Given the description of an element on the screen output the (x, y) to click on. 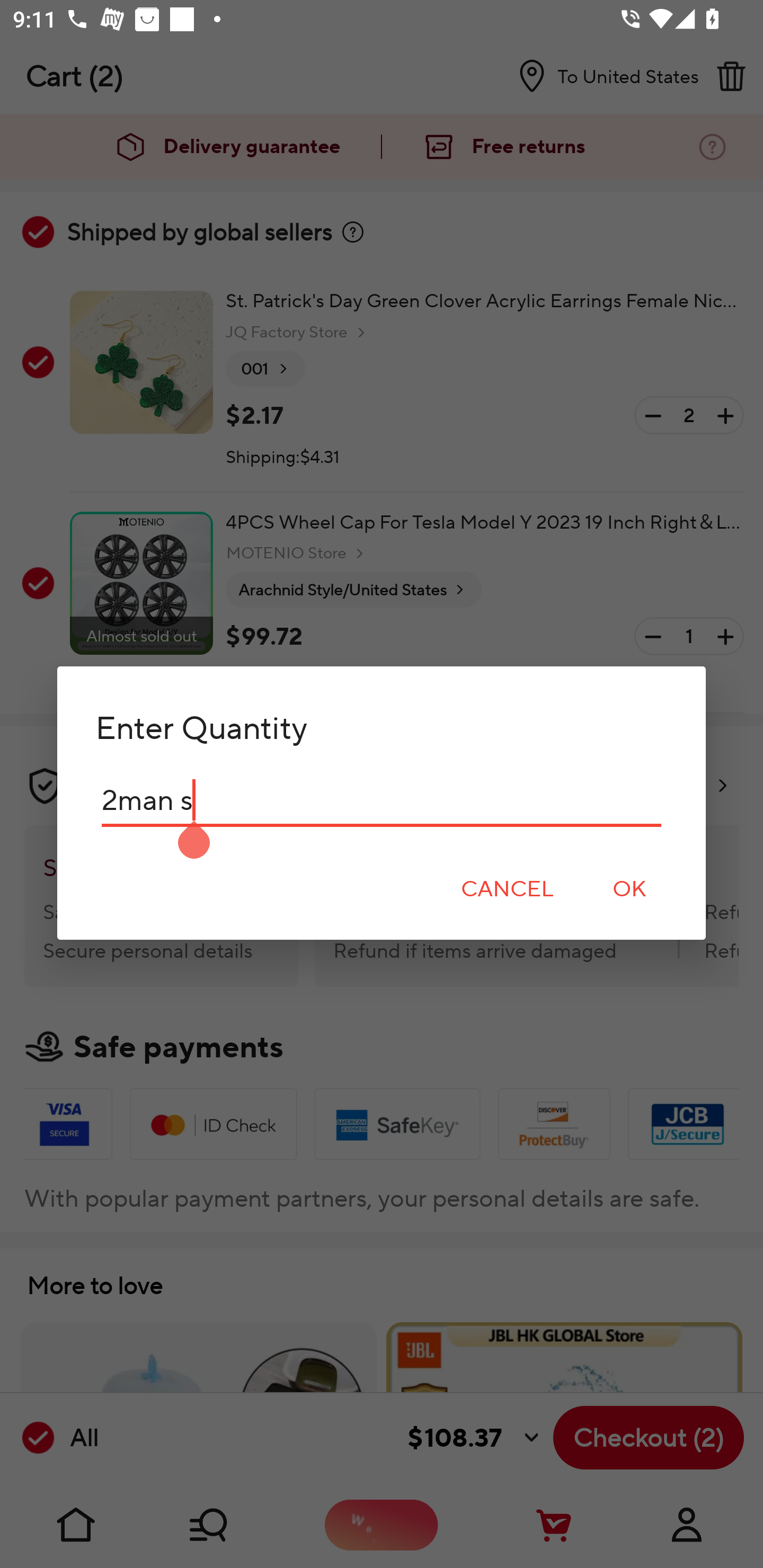
2man s (381, 800)
CANCEL (506, 888)
OK (629, 888)
